Given the description of an element on the screen output the (x, y) to click on. 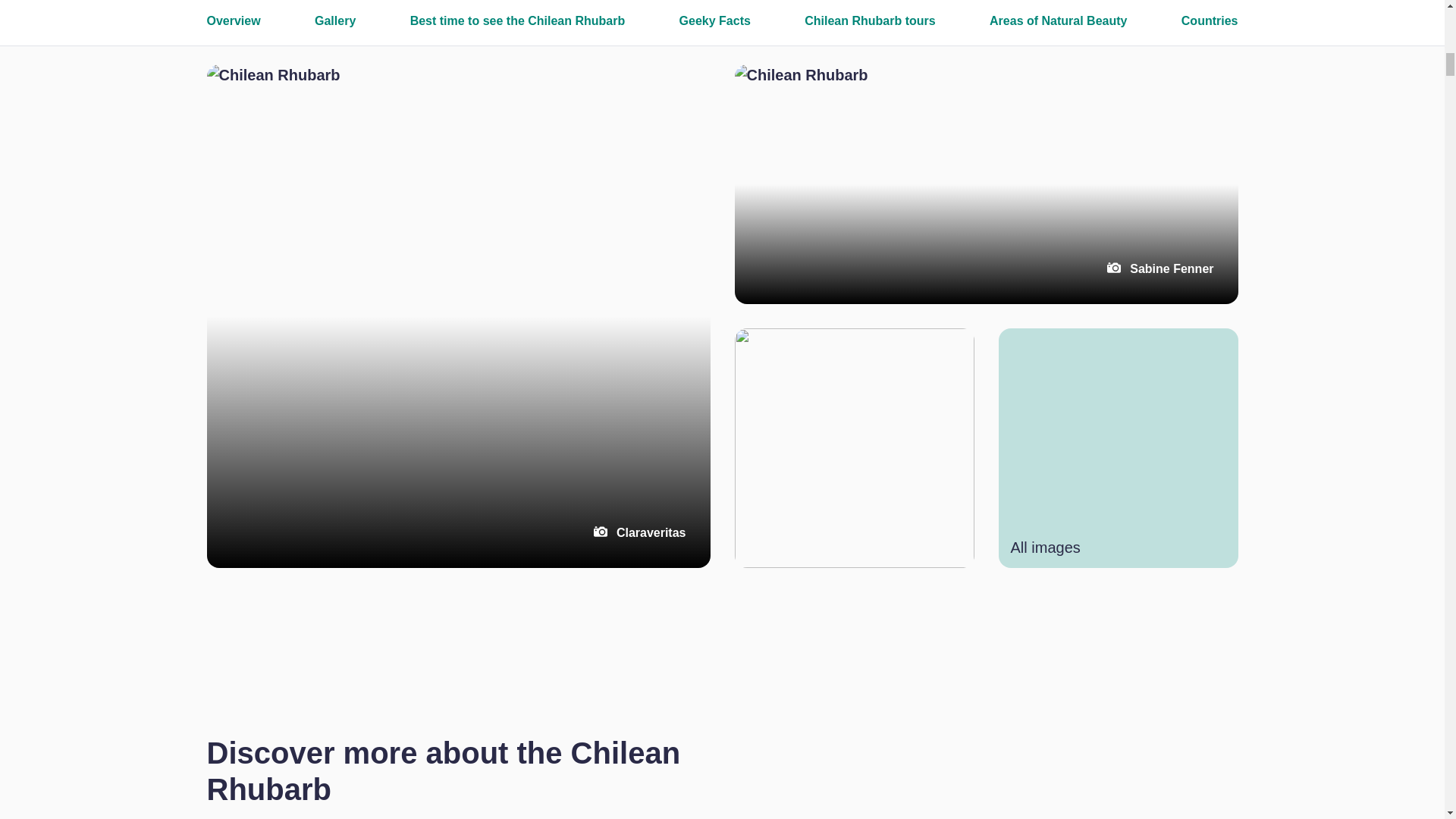
Sabine Fenner (985, 183)
